Given the description of an element on the screen output the (x, y) to click on. 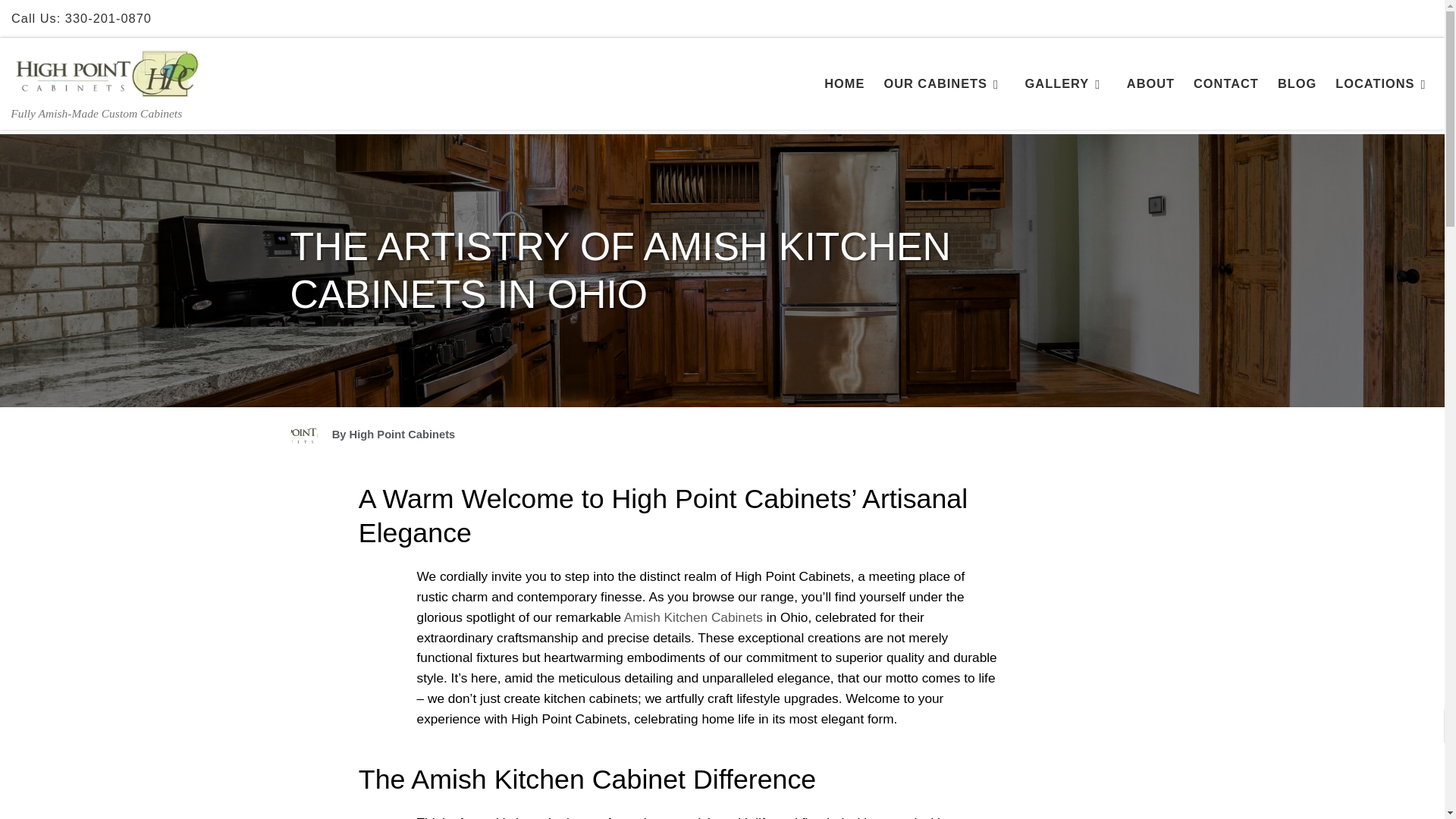
HOME (844, 83)
BLOG (1297, 83)
CONTACT (1226, 83)
Call Us: 330-201-0870 (80, 18)
ABOUT (1150, 83)
GALLERY (1066, 83)
LOCATIONS (1384, 83)
Skip to content (67, 21)
OUR CABINETS (944, 83)
